Given the description of an element on the screen output the (x, y) to click on. 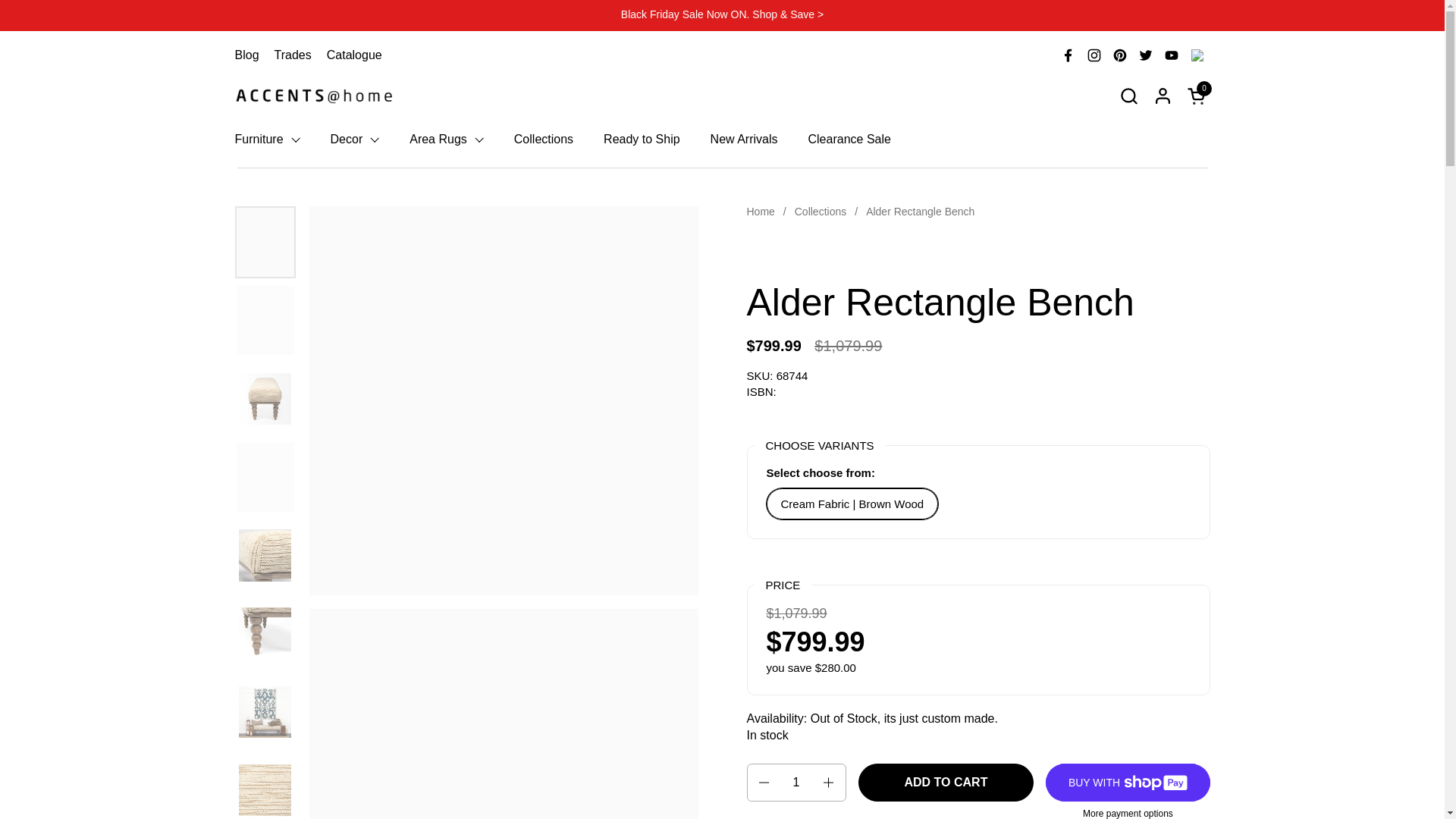
YouTube Element type: text (1171, 55)
Catalogue Element type: text (354, 54)
Black Friday Sale Now ON. Shop & Save > Element type: text (722, 14)
Ready to Ship Element type: text (641, 139)
New Arrivals Element type: text (744, 139)
Accents@Home Element type: hover (315, 95)
Pinterest Element type: text (1119, 55)
Collections Element type: text (543, 139)
Instagram Element type: text (1094, 55)
Collections Element type: text (820, 212)
Twitter Element type: text (1145, 55)
ADD TO CART Element type: text (946, 782)
Clearance Sale Element type: text (849, 139)
Facebook Element type: text (1068, 55)
Open cart
0 Element type: text (1198, 95)
Furniture Element type: text (267, 139)
Open search Element type: hover (1128, 95)
Home Element type: text (760, 212)
Blog Element type: text (247, 54)
Area Rugs Element type: text (446, 139)
Decor Element type: text (355, 139)
Skip to content Element type: text (0, 0)
Trades Element type: text (292, 54)
